Given the description of an element on the screen output the (x, y) to click on. 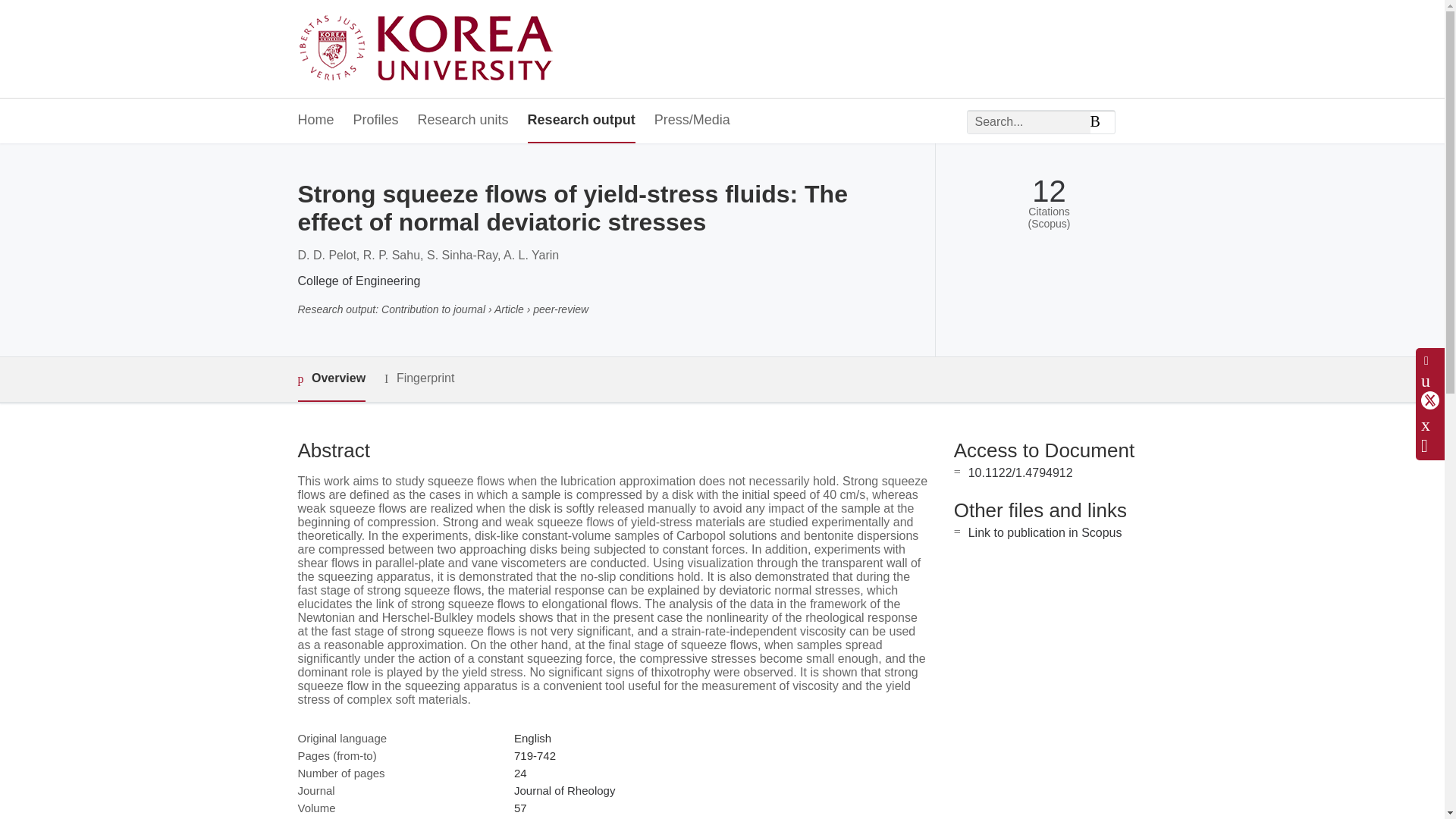
Overview (331, 379)
Fingerprint (419, 378)
Profiles (375, 120)
Korea University Home (429, 49)
Journal of Rheology (563, 789)
Research output (580, 120)
Home (315, 120)
Research units (462, 120)
Link to publication in Scopus (1045, 532)
College of Engineering (358, 280)
12 (1048, 191)
